Given the description of an element on the screen output the (x, y) to click on. 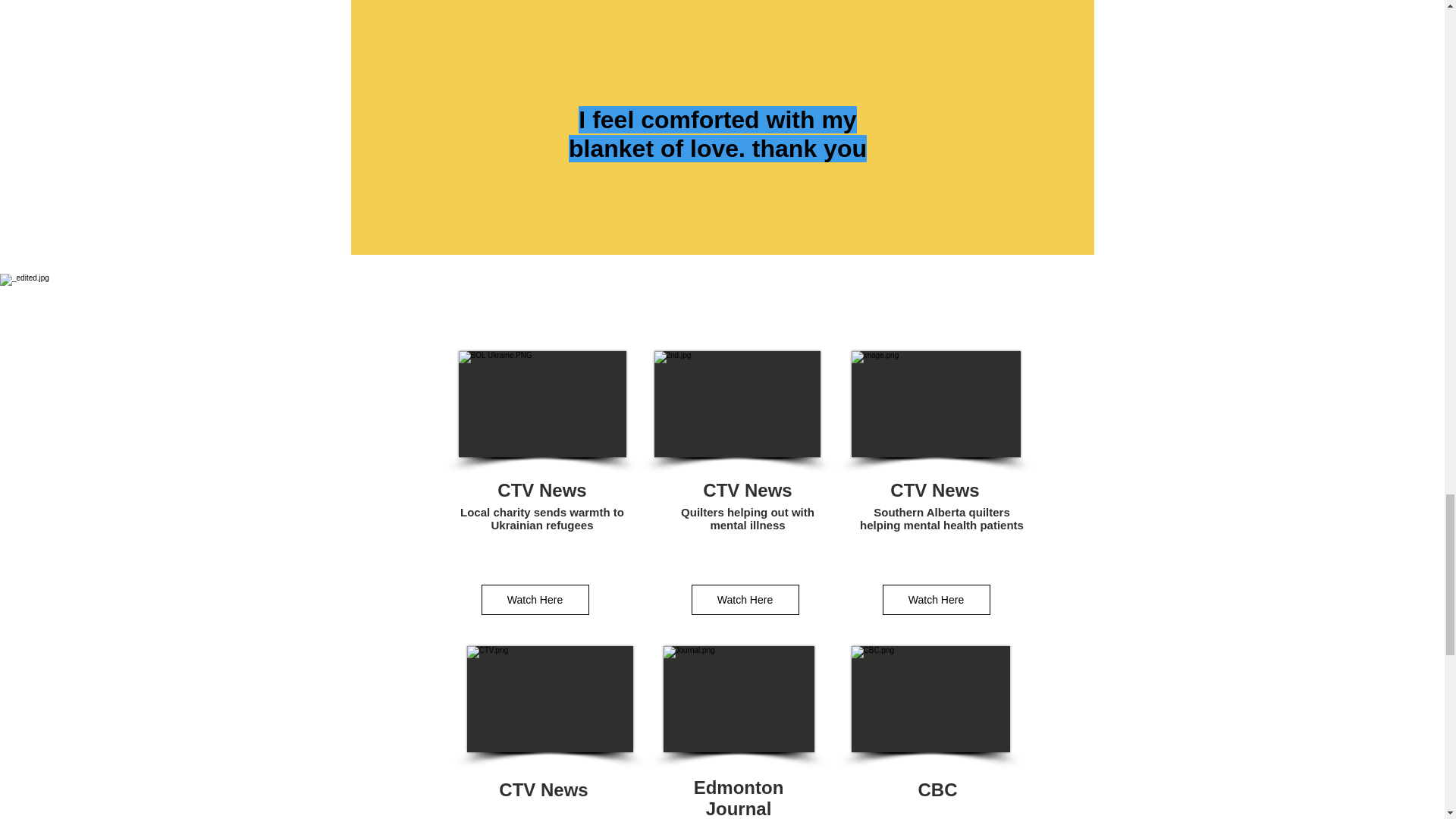
Watch Here (534, 599)
Watch Here (745, 599)
Watch Here (936, 599)
